Given the description of an element on the screen output the (x, y) to click on. 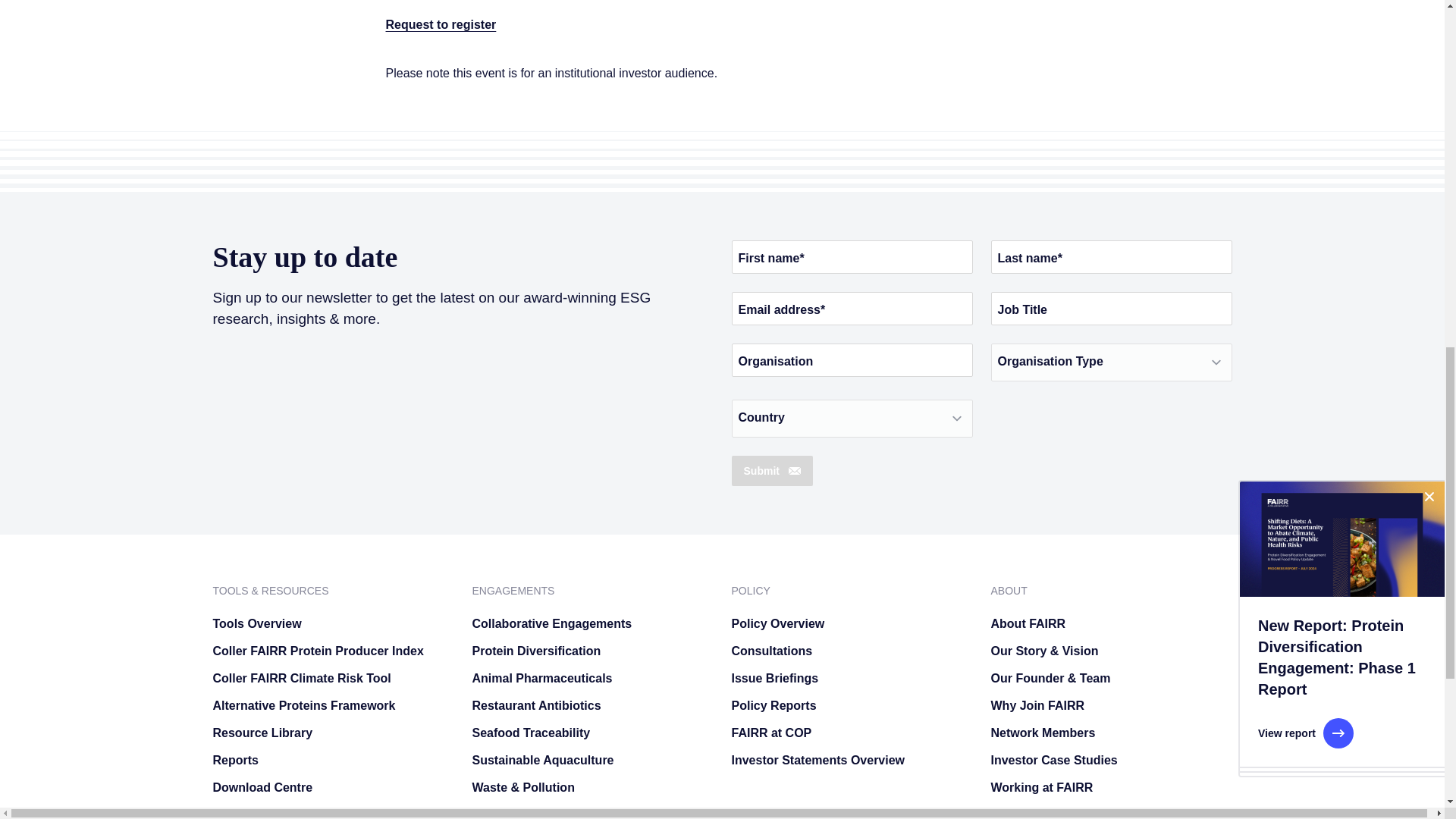
Companies Assessed (332, 813)
Tools Overview (332, 623)
Seafood Traceability (592, 733)
Alternative Proteins Framework (332, 705)
Protein Diversification (592, 651)
Submit (771, 470)
Coller FAIRR Protein Producer Index (332, 651)
Request to register (440, 24)
Download Centre (332, 787)
Restaurant Antibiotics (592, 705)
Reports (332, 760)
Sustainable Aquaculture (592, 760)
Coller FAIRR Climate Risk Tool (332, 678)
Collaborative Engagements (592, 623)
Animal Pharmaceuticals (592, 678)
